Given the description of an element on the screen output the (x, y) to click on. 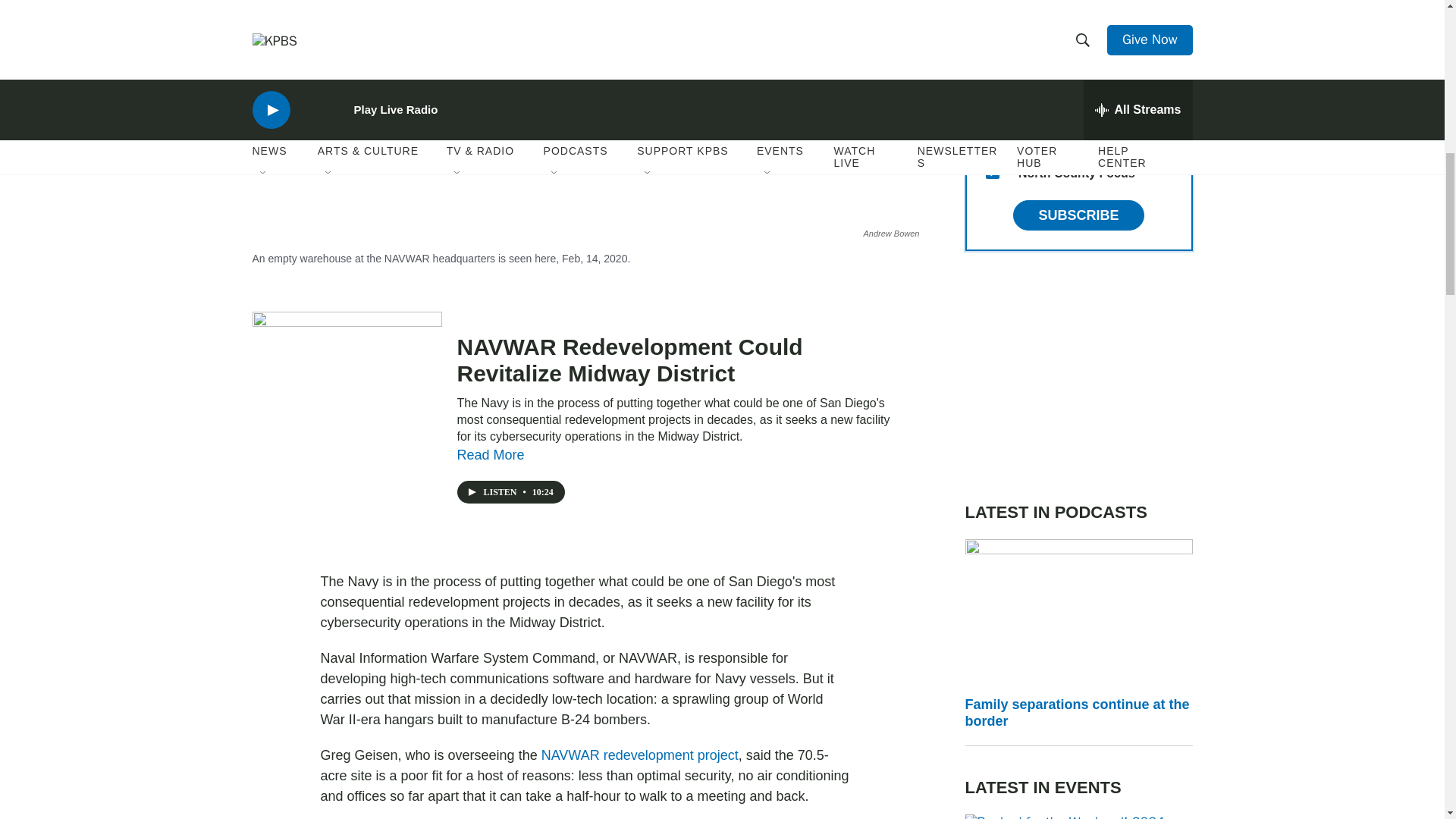
2 (991, 62)
6 (991, 26)
8 (991, 135)
1 (991, 99)
15 (991, 172)
